Given the description of an element on the screen output the (x, y) to click on. 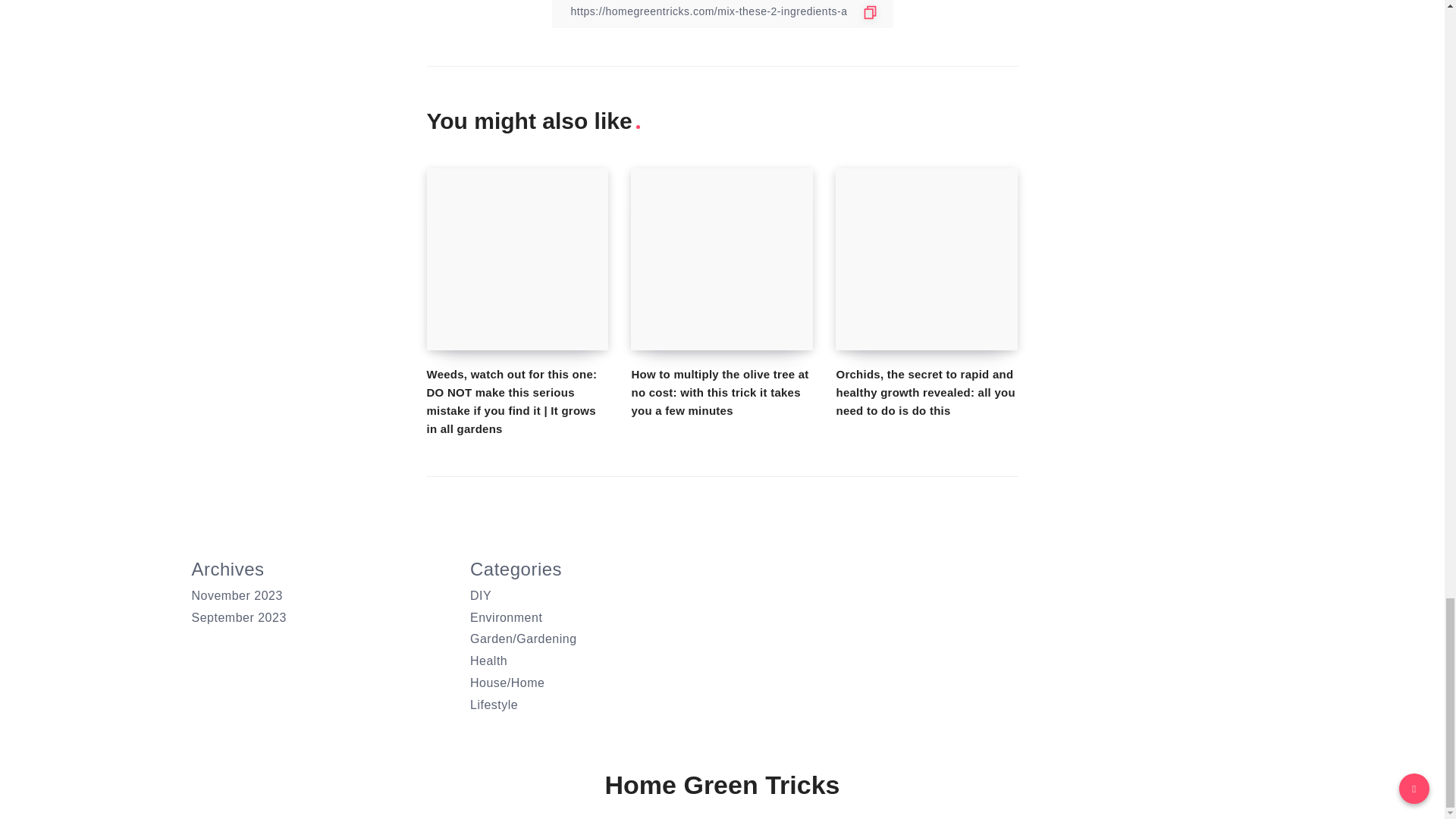
November 2023 (236, 594)
Home Green Tricks (722, 784)
Health (488, 660)
Environment (505, 617)
Lifestyle (494, 704)
September 2023 (237, 617)
DIY (481, 594)
